Given the description of an element on the screen output the (x, y) to click on. 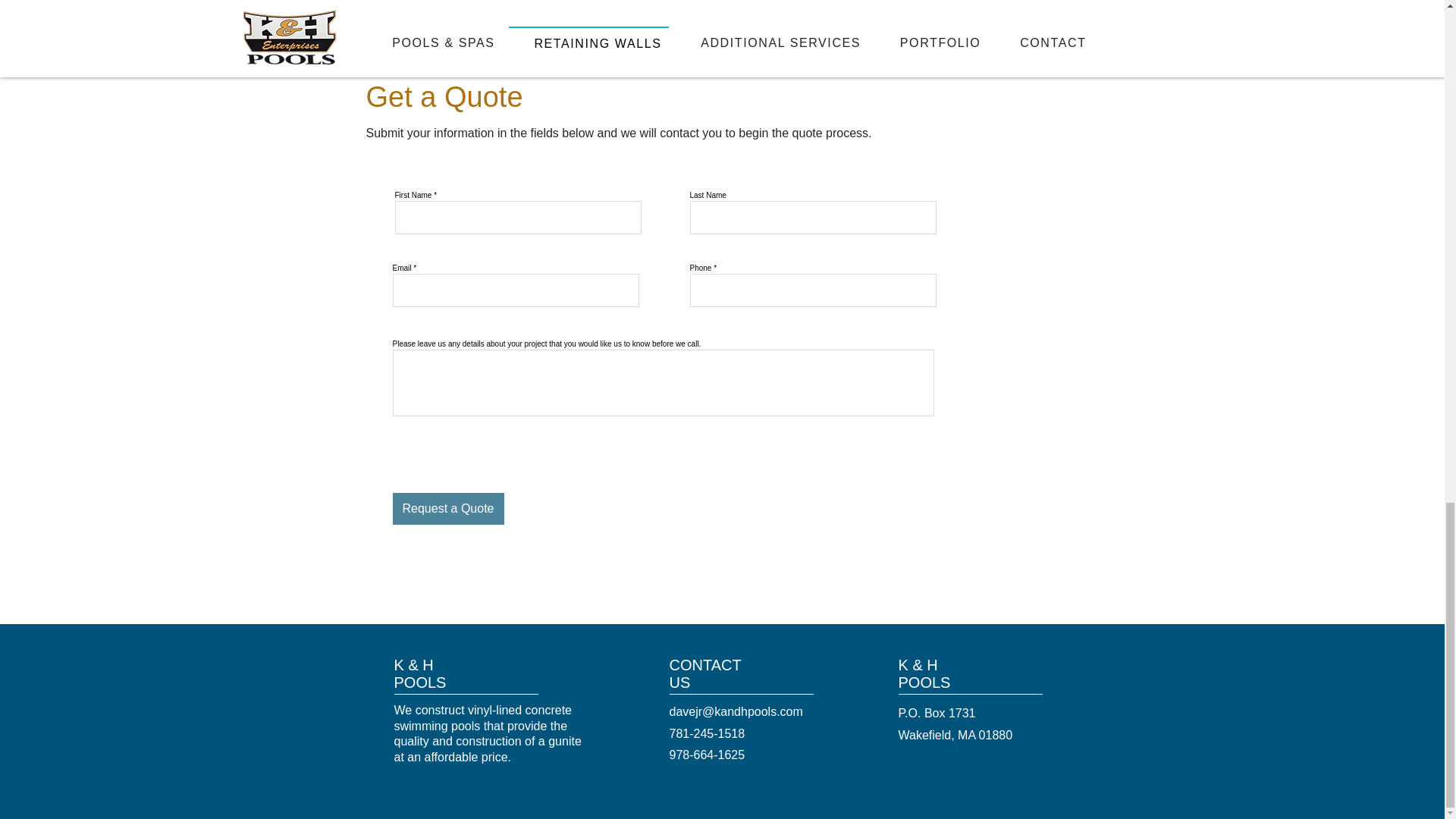
Request a Quote (448, 508)
